Given the description of an element on the screen output the (x, y) to click on. 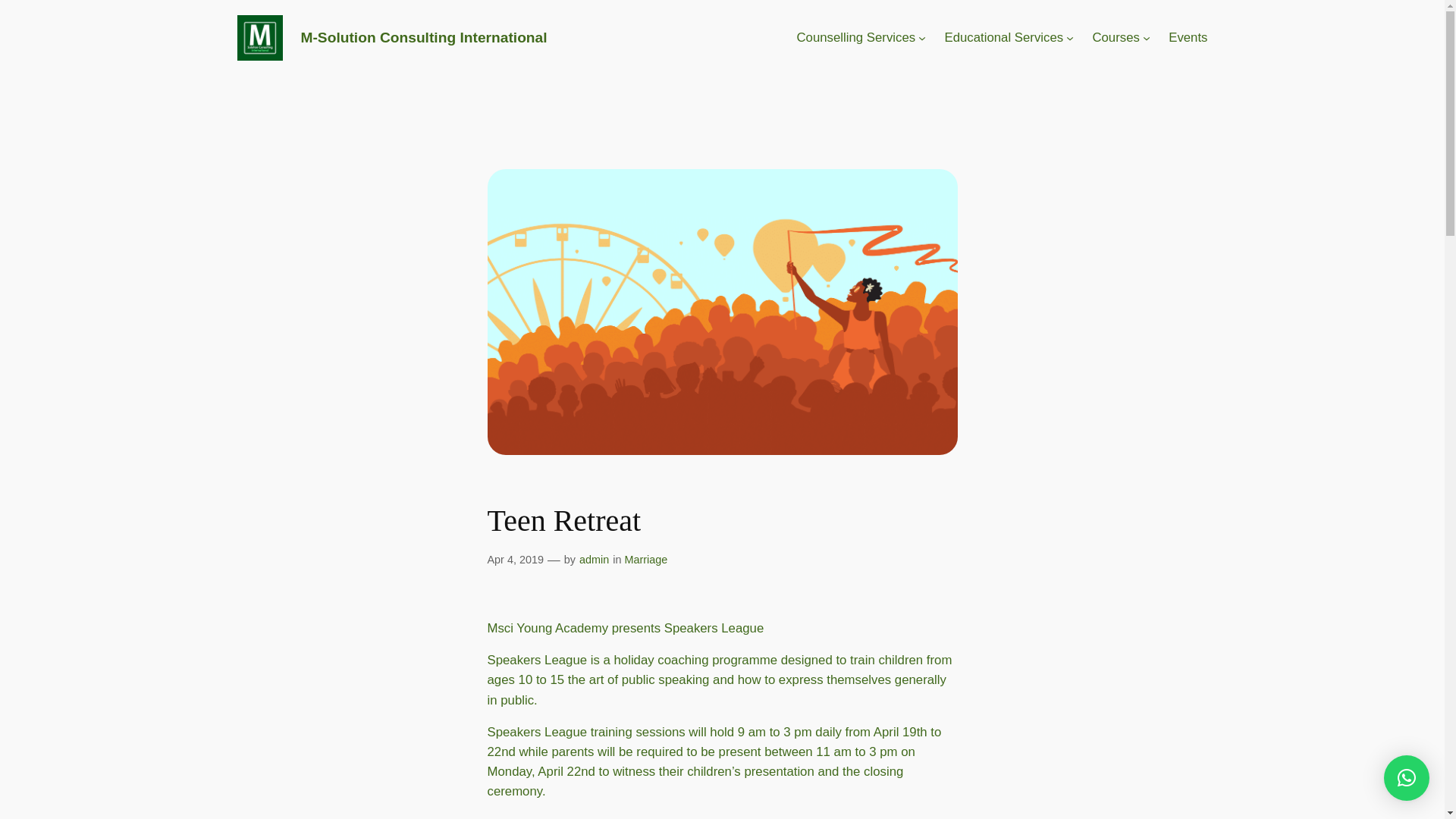
admin (593, 559)
Educational Services (1002, 37)
M-Solution Consulting International (423, 37)
Apr 4, 2019 (514, 559)
Events (1188, 37)
Marriage (645, 559)
Counselling Services (855, 37)
Courses (1116, 37)
